Given the description of an element on the screen output the (x, y) to click on. 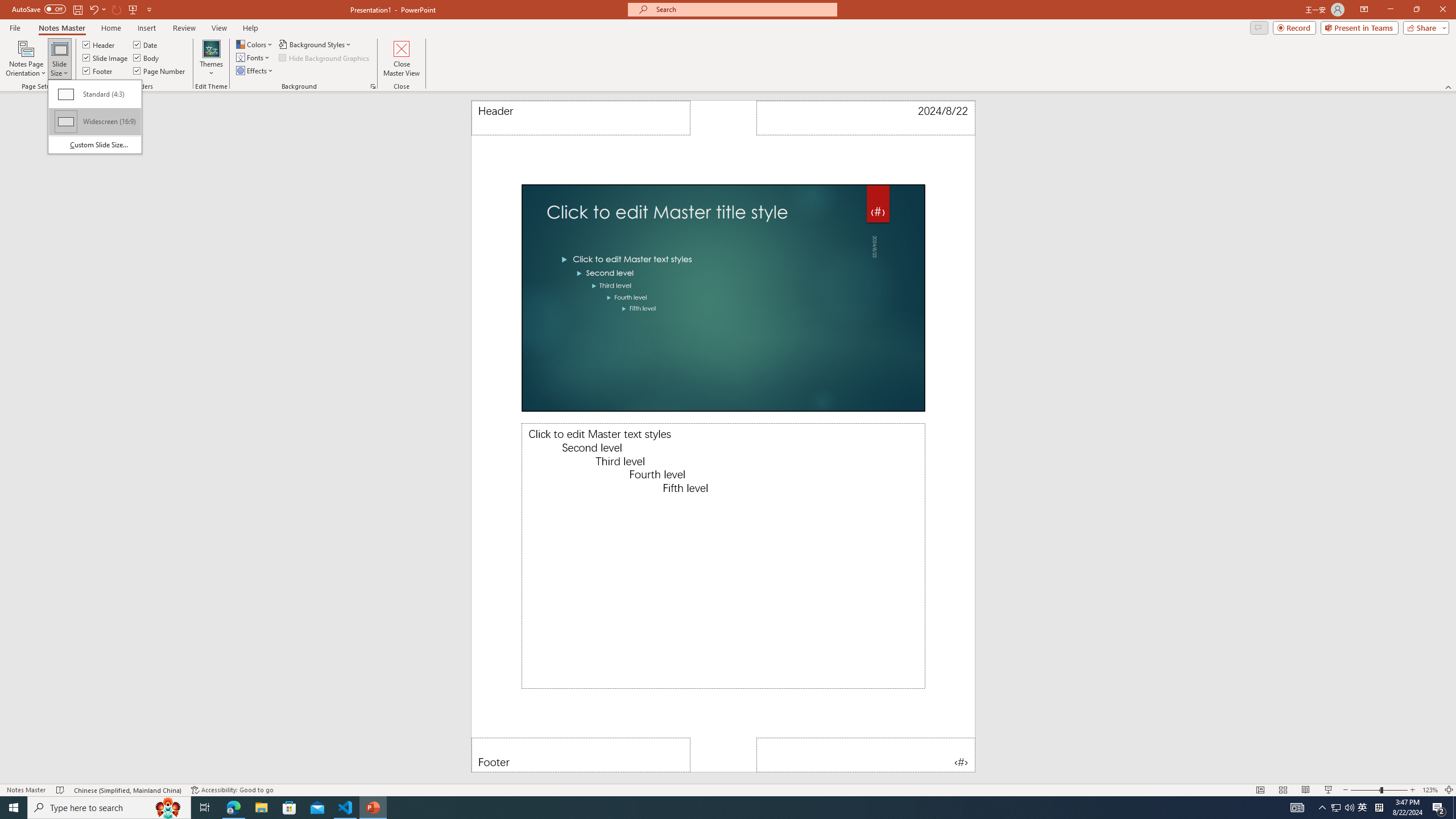
Date (146, 44)
Page Number (160, 69)
Hide Background Graphics (324, 56)
